Given the description of an element on the screen output the (x, y) to click on. 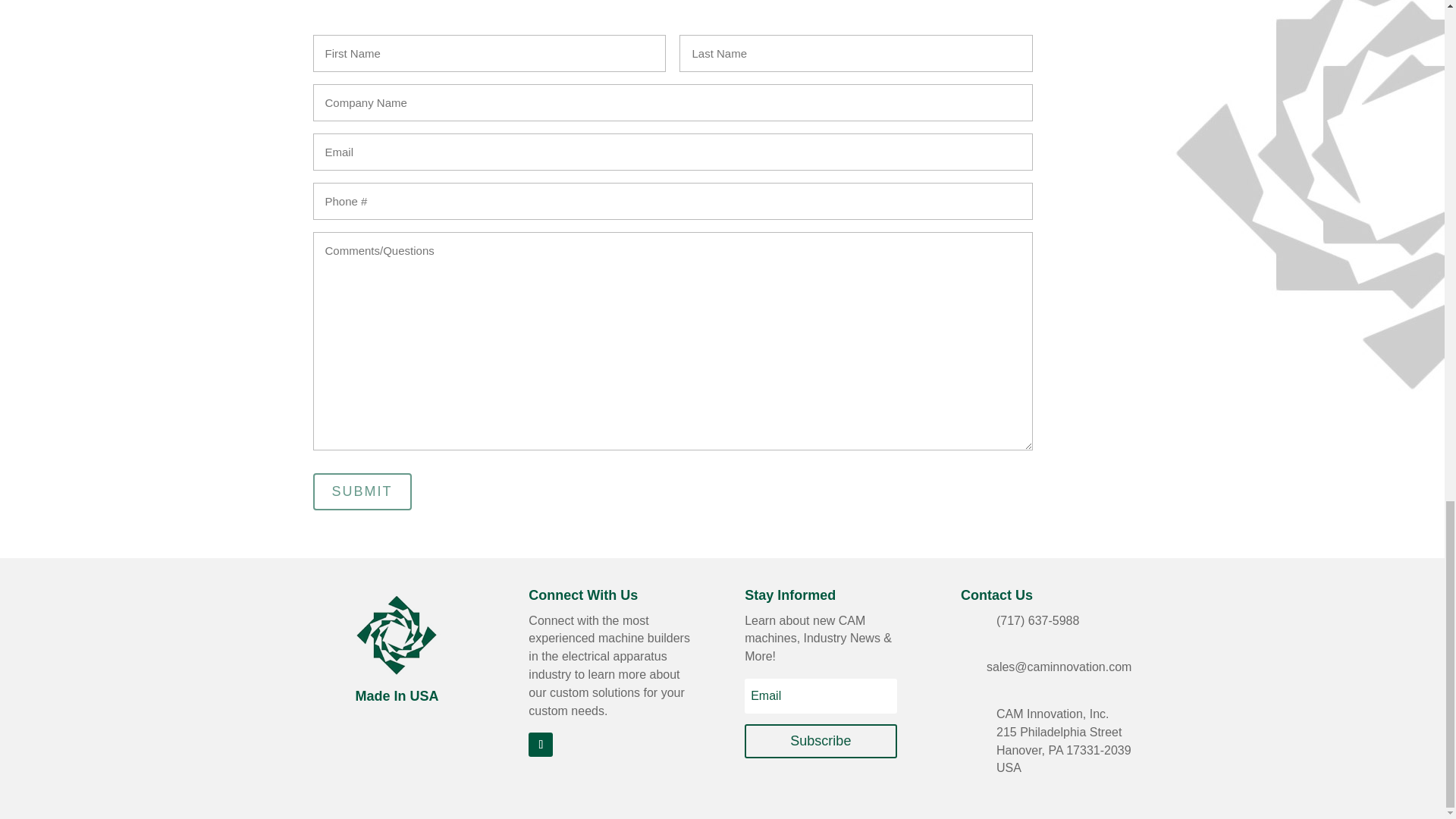
Follow on LinkedIn (540, 744)
Cam-Innovation-Hanover-PA (397, 639)
SUBMIT (361, 491)
